Given the description of an element on the screen output the (x, y) to click on. 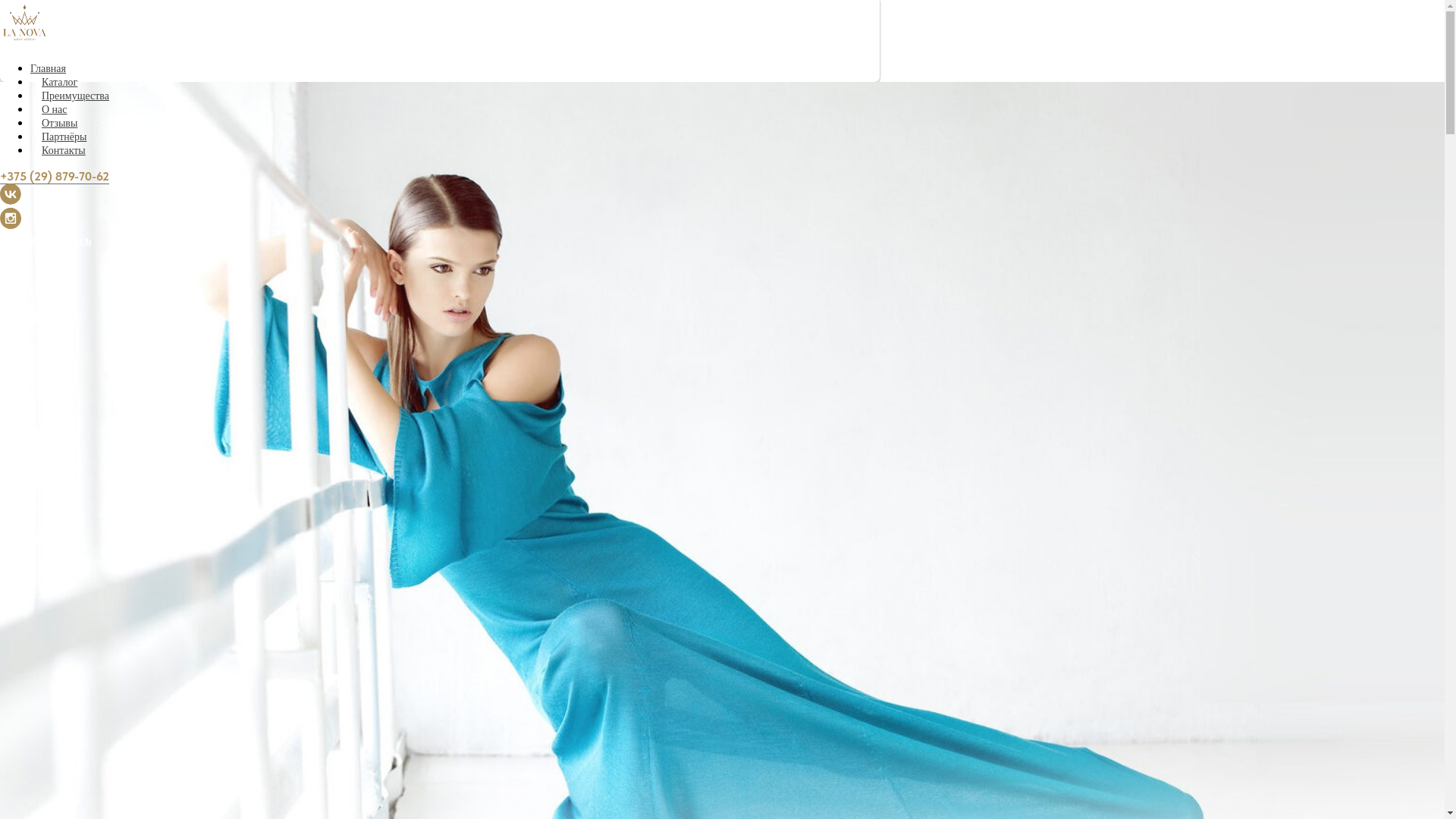
+375 (29) 879-70-62 Element type: text (54, 176)
